Given the description of an element on the screen output the (x, y) to click on. 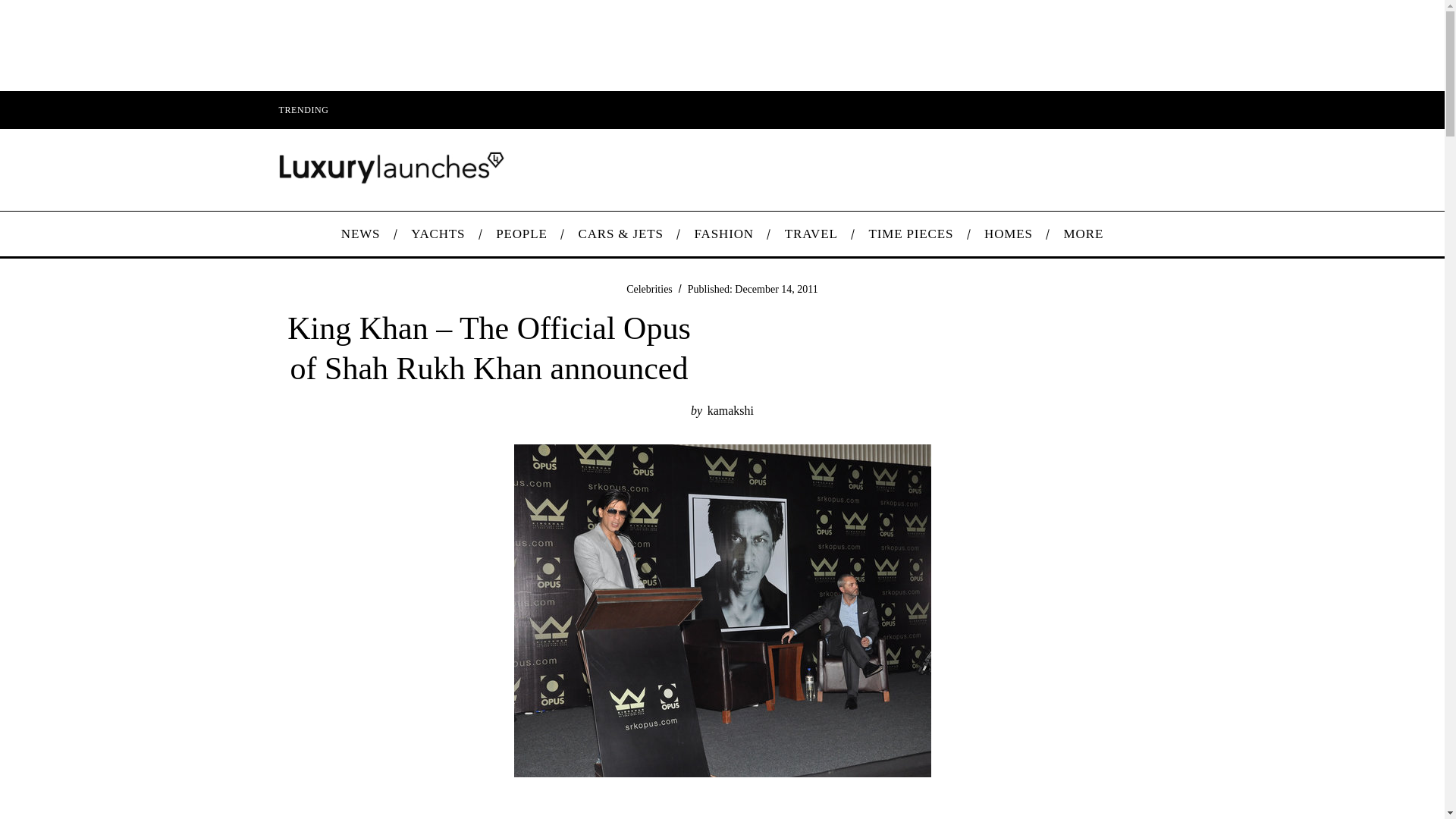
TIME PIECES (911, 233)
TRAVEL (810, 233)
MORE (1083, 233)
PEOPLE (521, 233)
FASHION (723, 233)
kamakshi (730, 410)
TRENDING (302, 109)
Celebrities (649, 288)
HOMES (1008, 233)
